Given the description of an element on the screen output the (x, y) to click on. 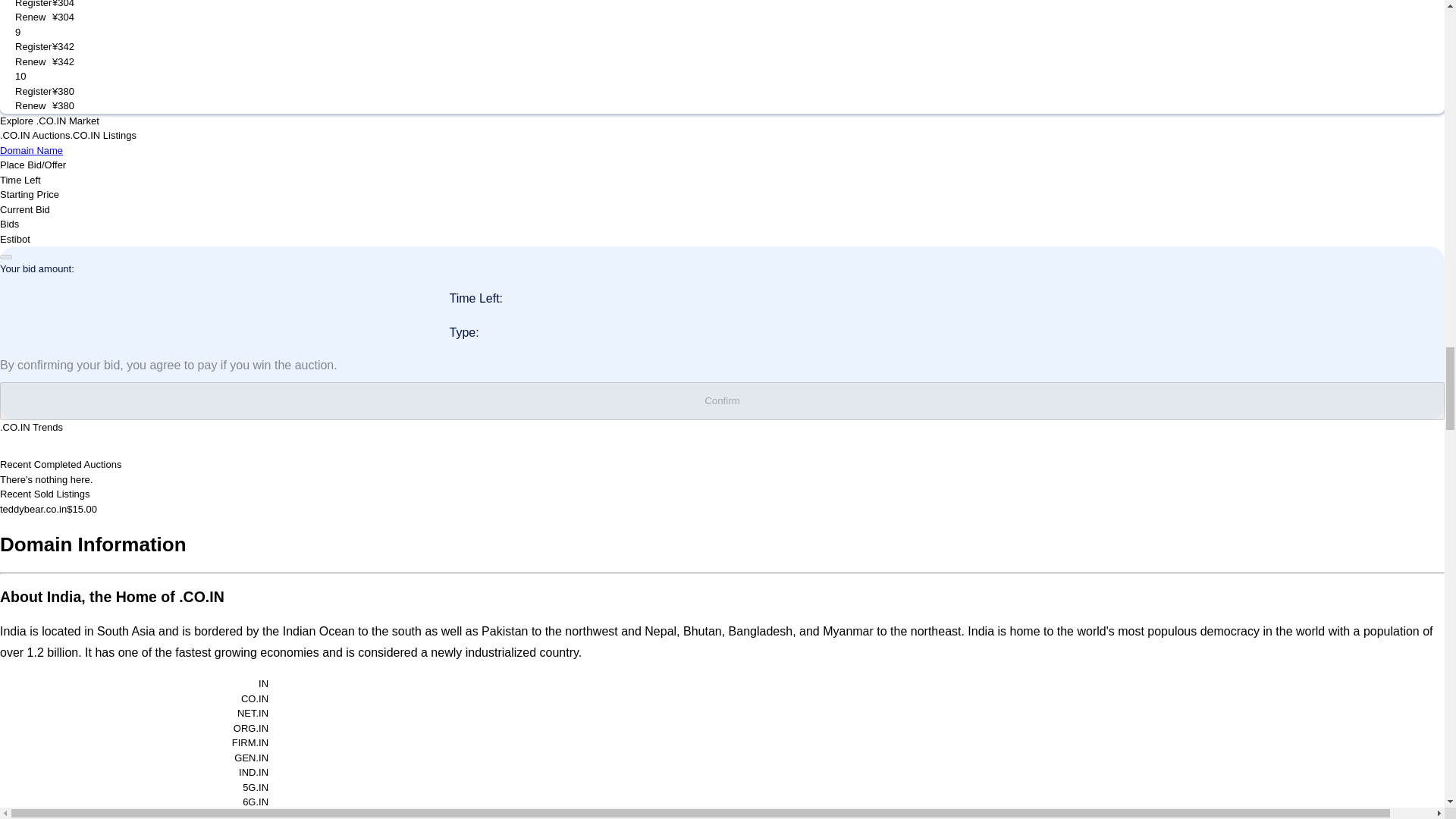
Confirm (722, 401)
